Given the description of an element on the screen output the (x, y) to click on. 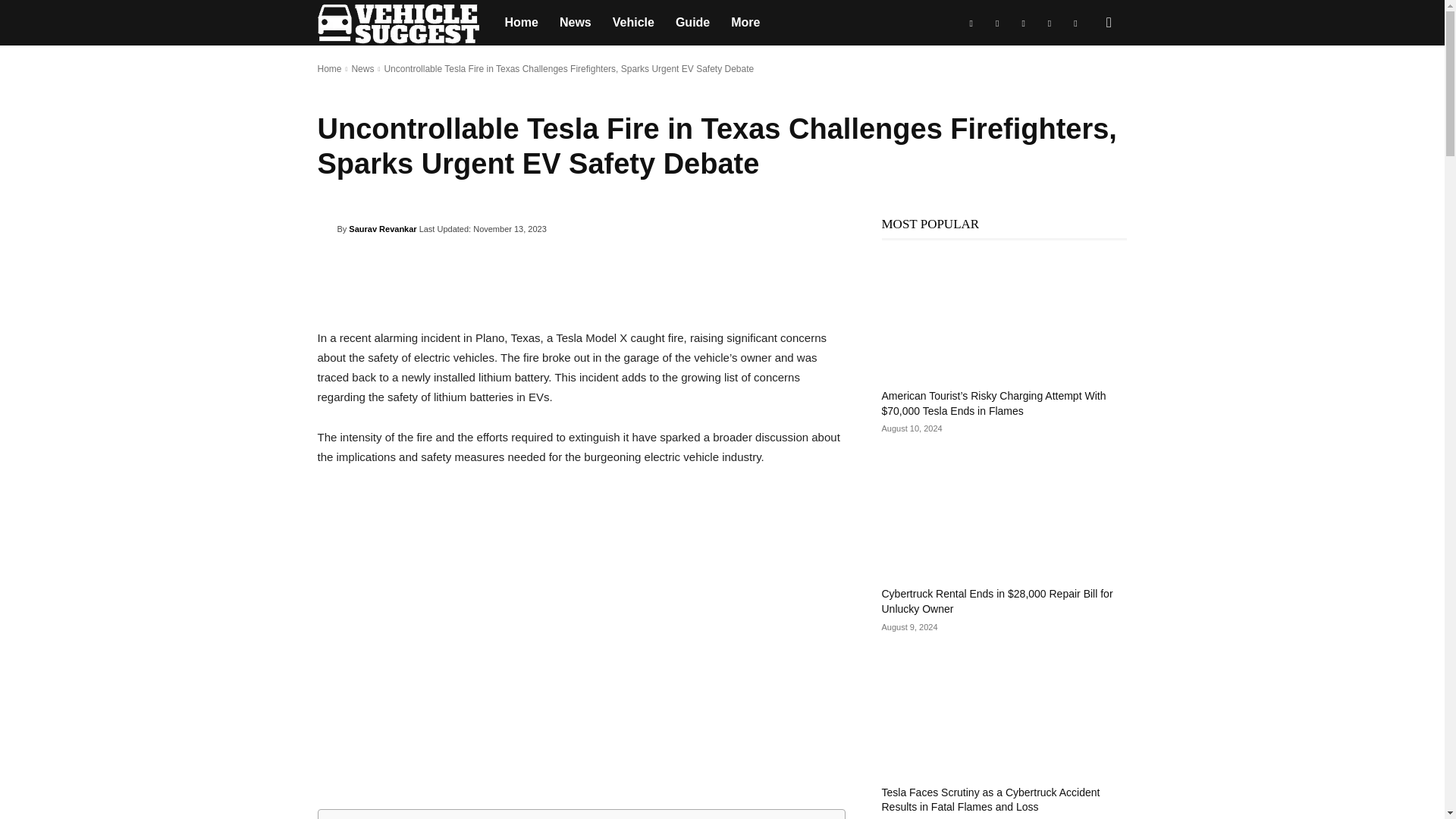
Vehiclesuggest (405, 22)
News (575, 22)
Vehicle Suggest (398, 23)
Home (521, 22)
